Given the description of an element on the screen output the (x, y) to click on. 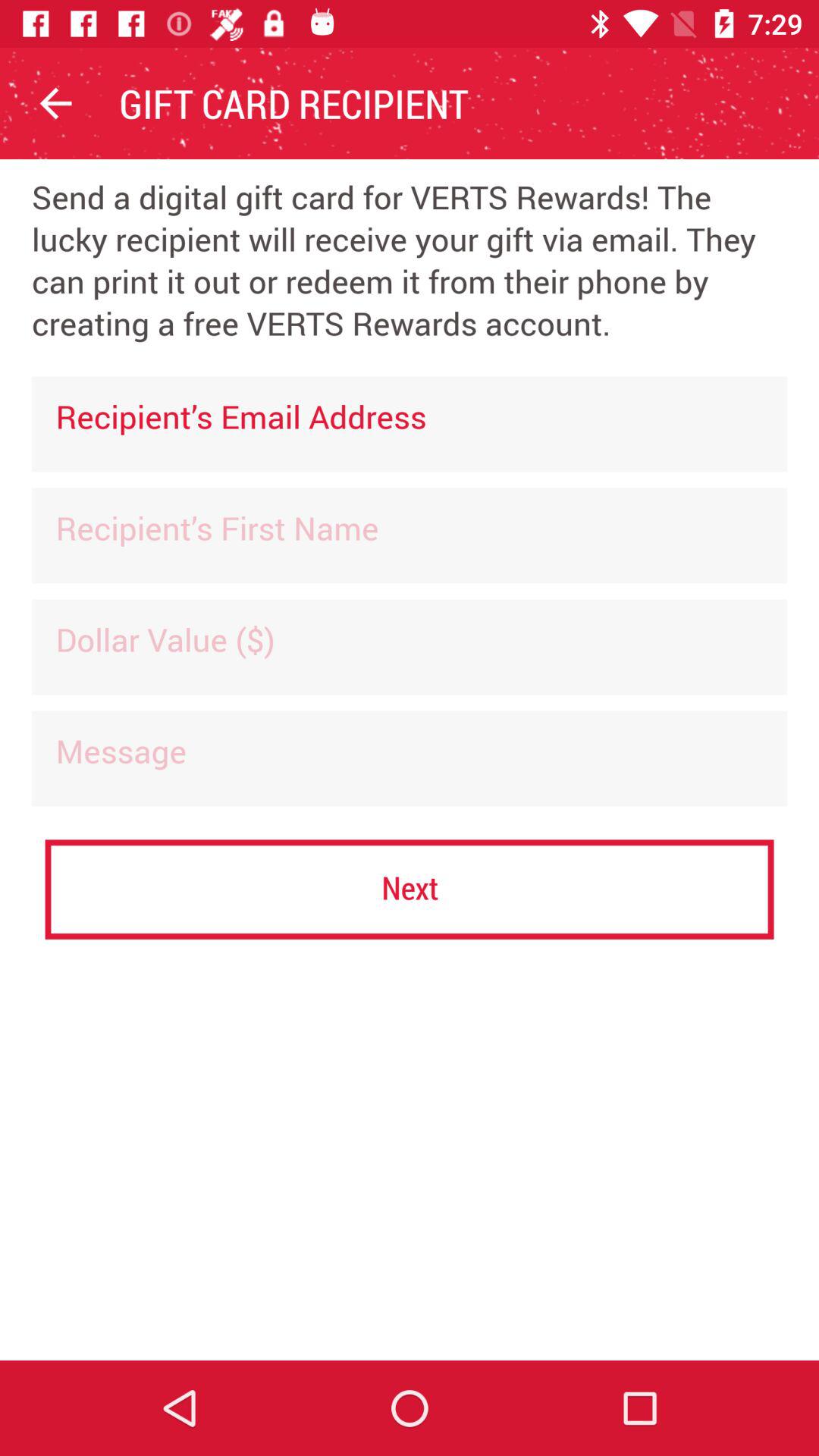
click icon above next item (409, 758)
